Given the description of an element on the screen output the (x, y) to click on. 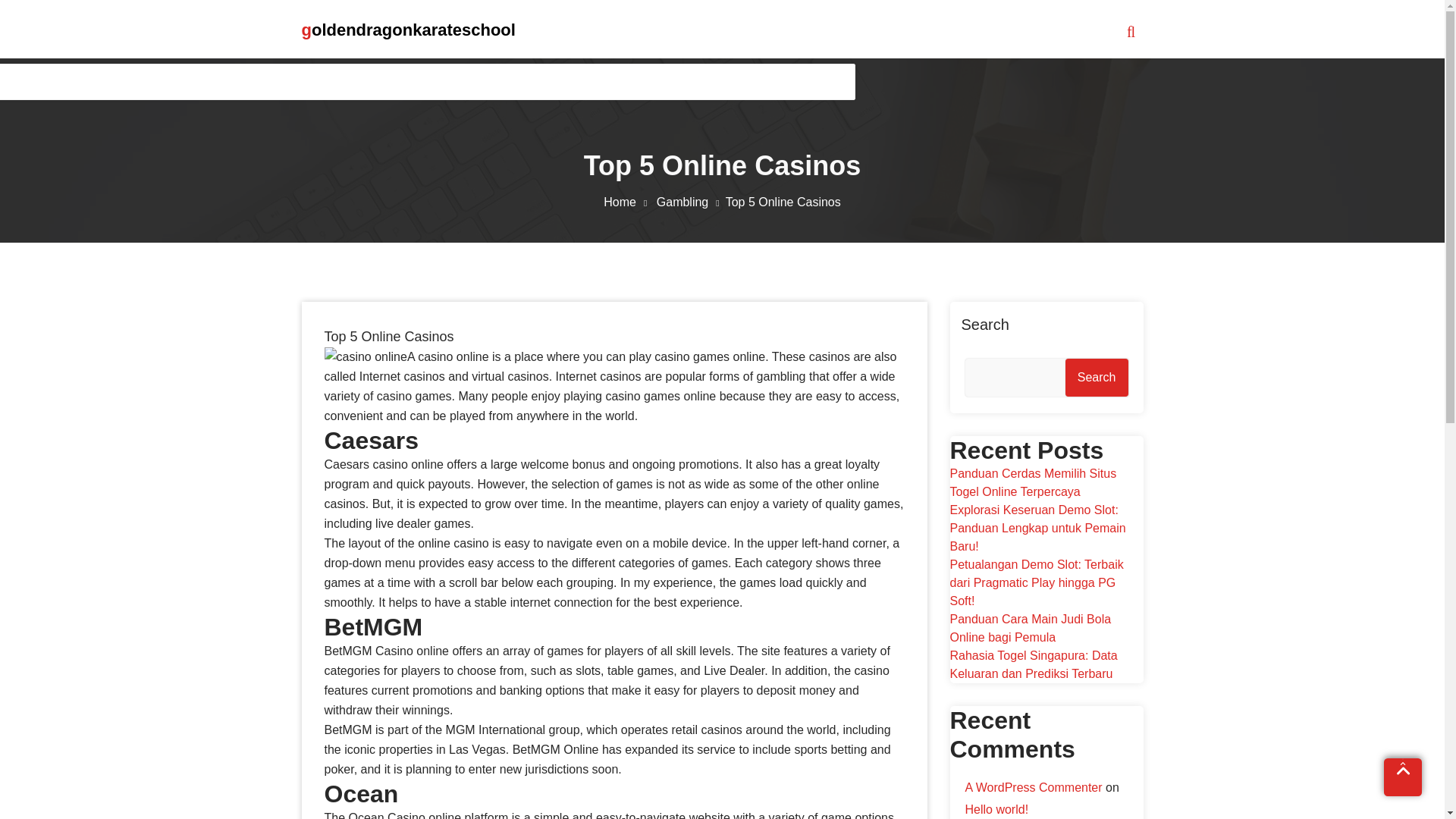
goldendragonkarateschool (408, 30)
Hello world! (995, 809)
Panduan Cara Main Judi Bola Online bagi Pemula (1029, 627)
Rahasia Togel Singapura: Data Keluaran dan Prediksi Terbaru (1032, 664)
Panduan Cerdas Memilih Situs Togel Online Terpercaya (1032, 481)
A WordPress Commenter (1032, 787)
Gambling (690, 201)
Search (1096, 377)
Home (628, 201)
